Given the description of an element on the screen output the (x, y) to click on. 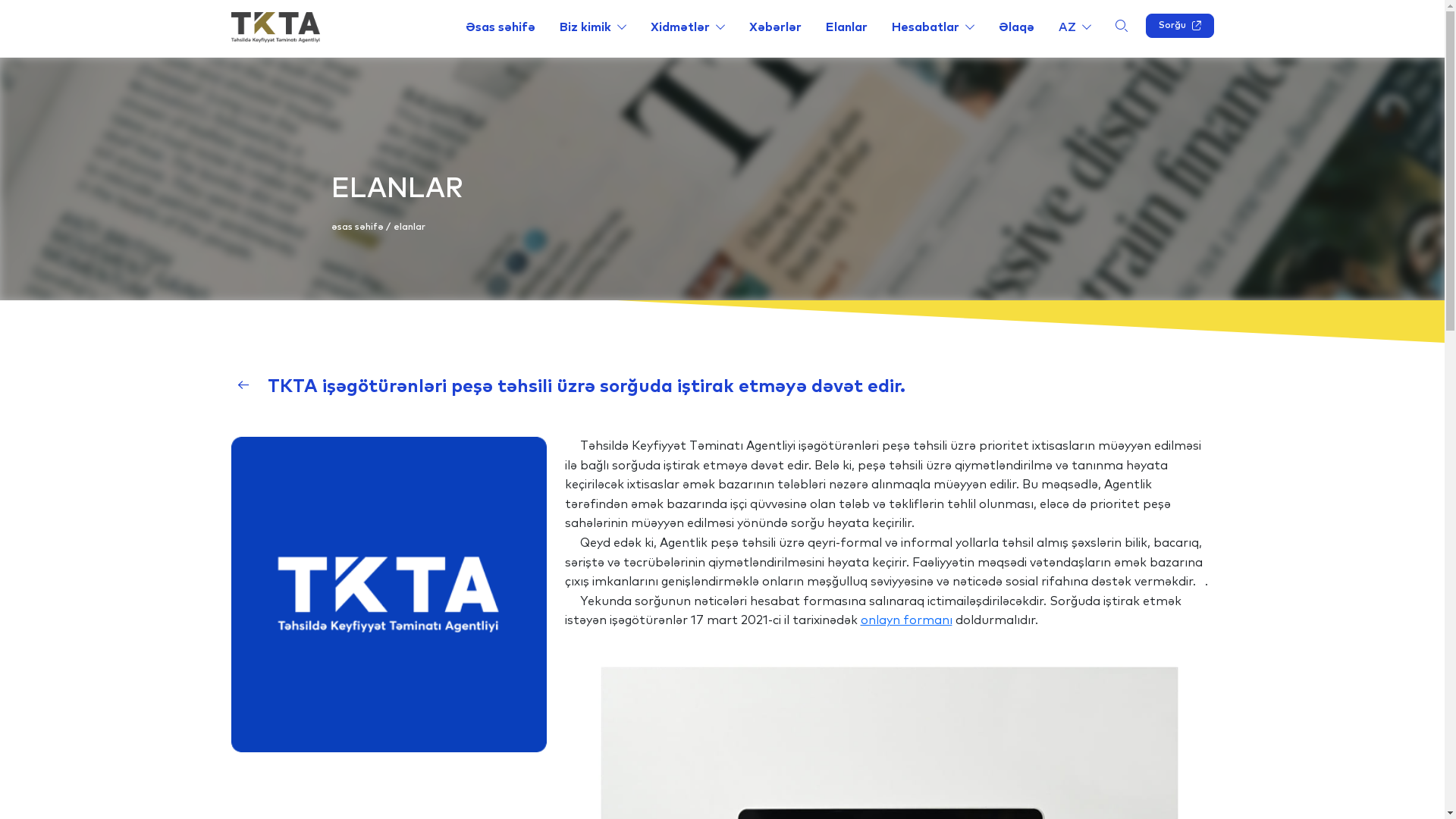
elanlar Element type: text (408, 227)
Biz kimik Element type: text (592, 26)
Elanlar Element type: text (845, 26)
Hesabatlar Element type: text (932, 26)
AZ Element type: text (1074, 26)
